Given the description of an element on the screen output the (x, y) to click on. 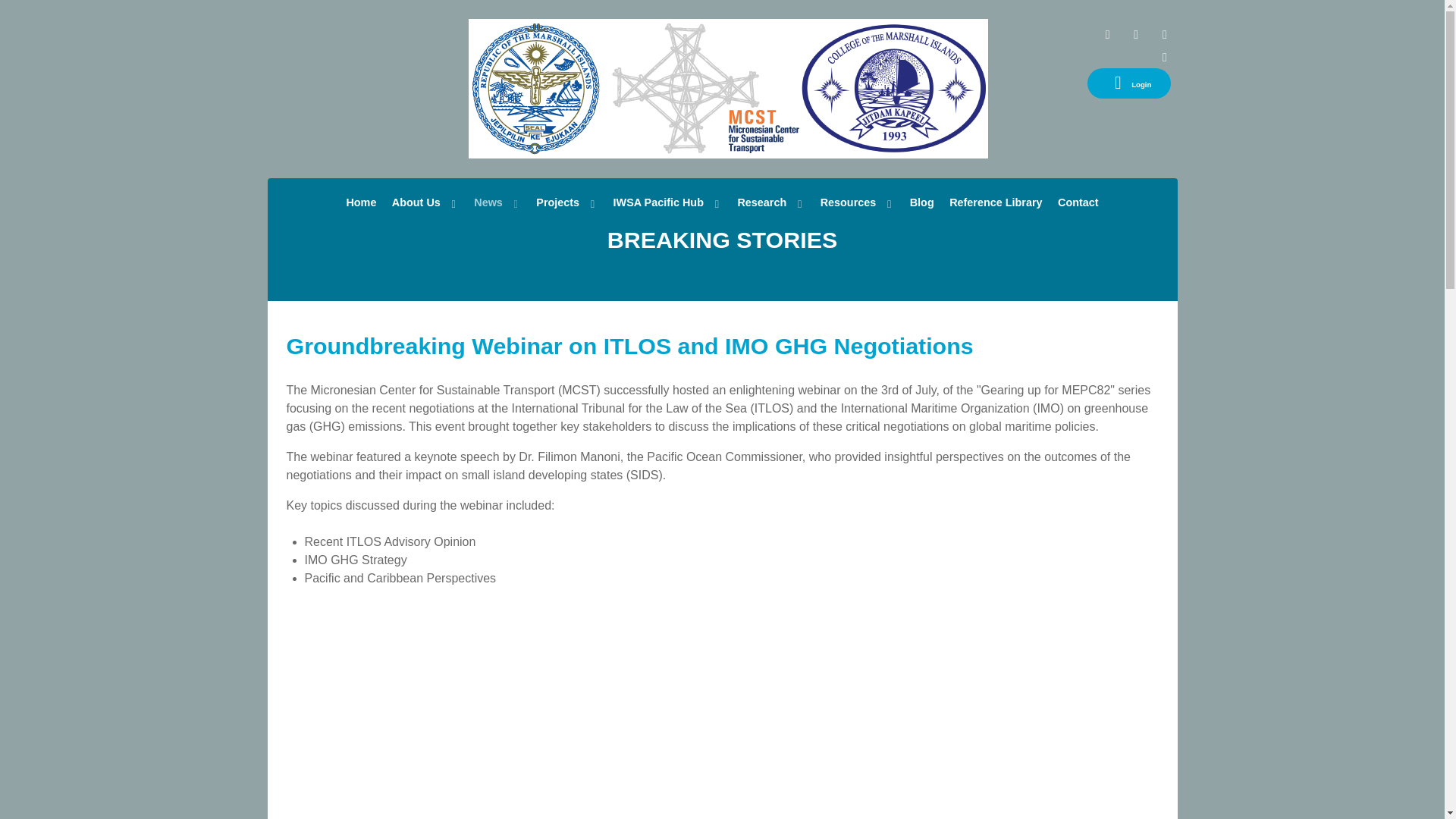
Home (360, 202)
Login (1129, 82)
YouTube video player (589, 712)
Login (1129, 82)
